Given the description of an element on the screen output the (x, y) to click on. 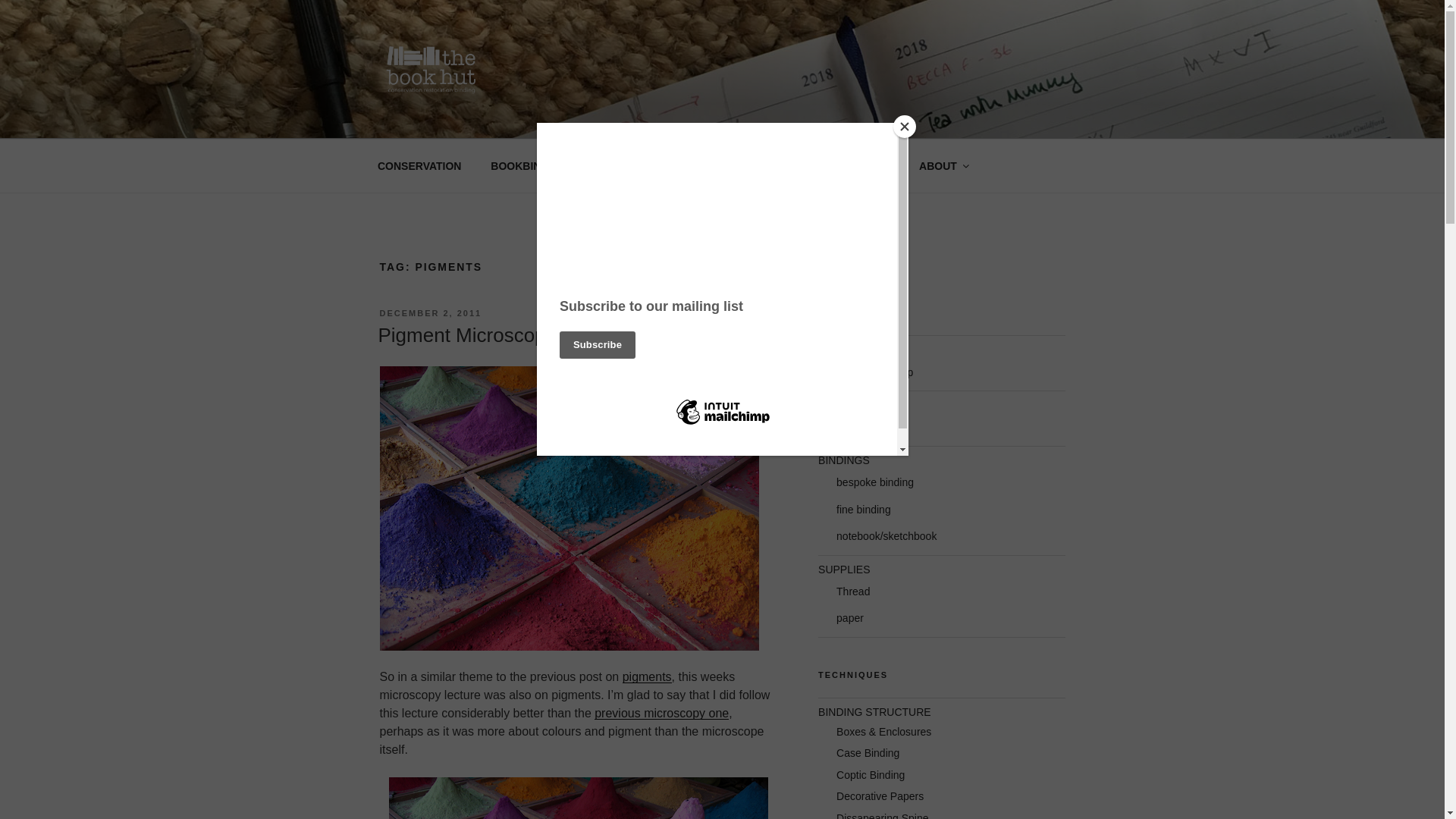
hand tool (857, 427)
CONSERVATION (419, 165)
DECEMBER 2, 2011 (429, 312)
online workshop (873, 372)
EVENTS (677, 165)
WORKSHOPS (853, 349)
bespoke binding (874, 481)
fine binding (863, 509)
TECHNIQUES (768, 165)
JOURNAL (863, 165)
ABOUT (943, 165)
Pigment Microscopy (465, 334)
previous microscopy one (661, 712)
TOOLS (835, 404)
SUPPLIES (843, 569)
